Given the description of an element on the screen output the (x, y) to click on. 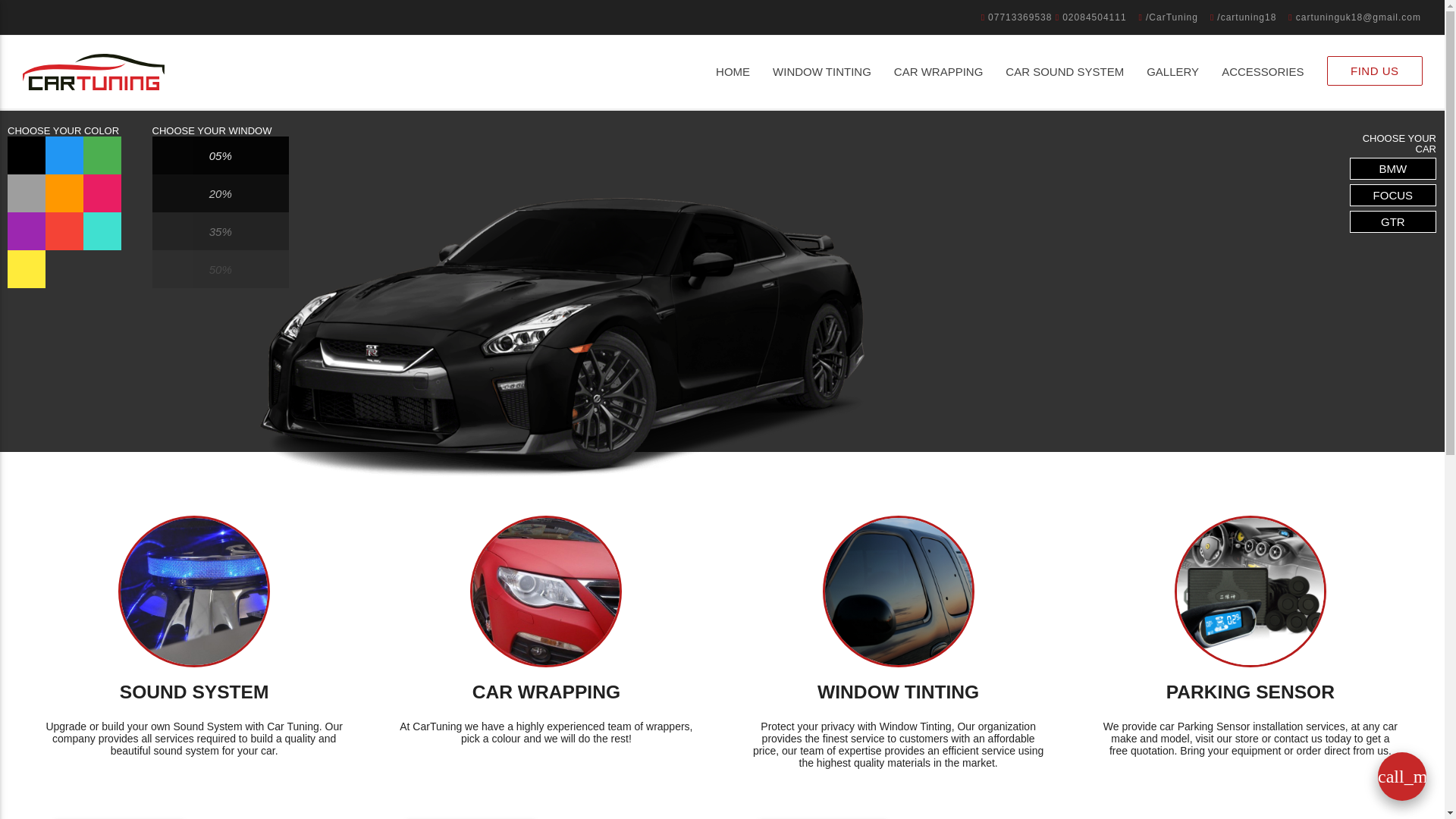
FIND US (1374, 70)
07713369538 (1018, 17)
GALLERY (1172, 72)
focus (1392, 195)
02084504111 (1090, 17)
CAR WRAPPING (938, 72)
WINDOW TINTING (821, 72)
gtr (1392, 221)
HOME (732, 72)
CAR SOUND SYSTEM (1064, 72)
